Given the description of an element on the screen output the (x, y) to click on. 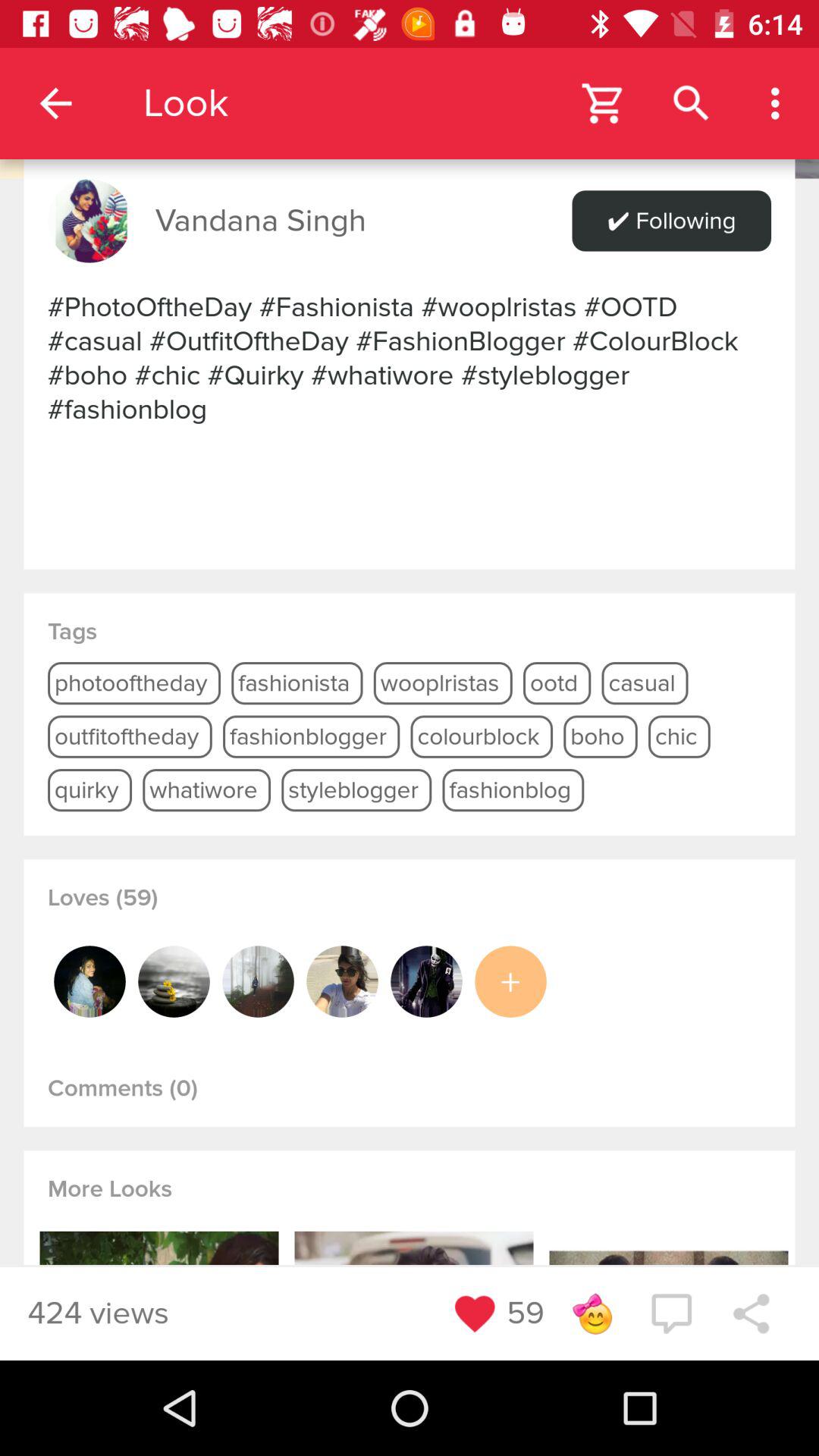
favorites (474, 1313)
